Given the description of an element on the screen output the (x, y) to click on. 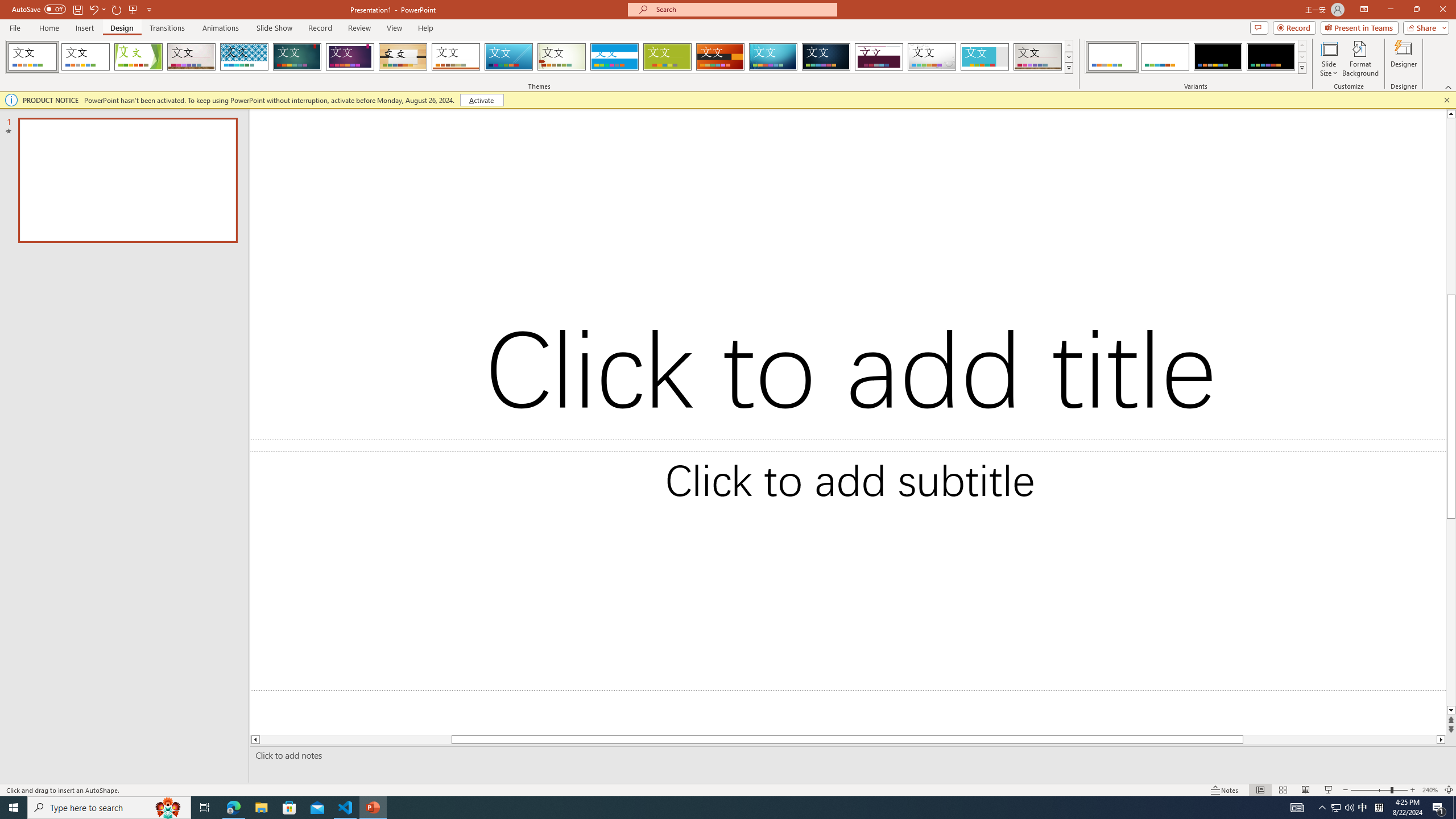
AutomationID: ThemeVariantsGallery (1195, 56)
Format Background (1360, 58)
Slice (508, 56)
Damask (826, 56)
Integral (244, 56)
Retrospect (455, 56)
